Given the description of an element on the screen output the (x, y) to click on. 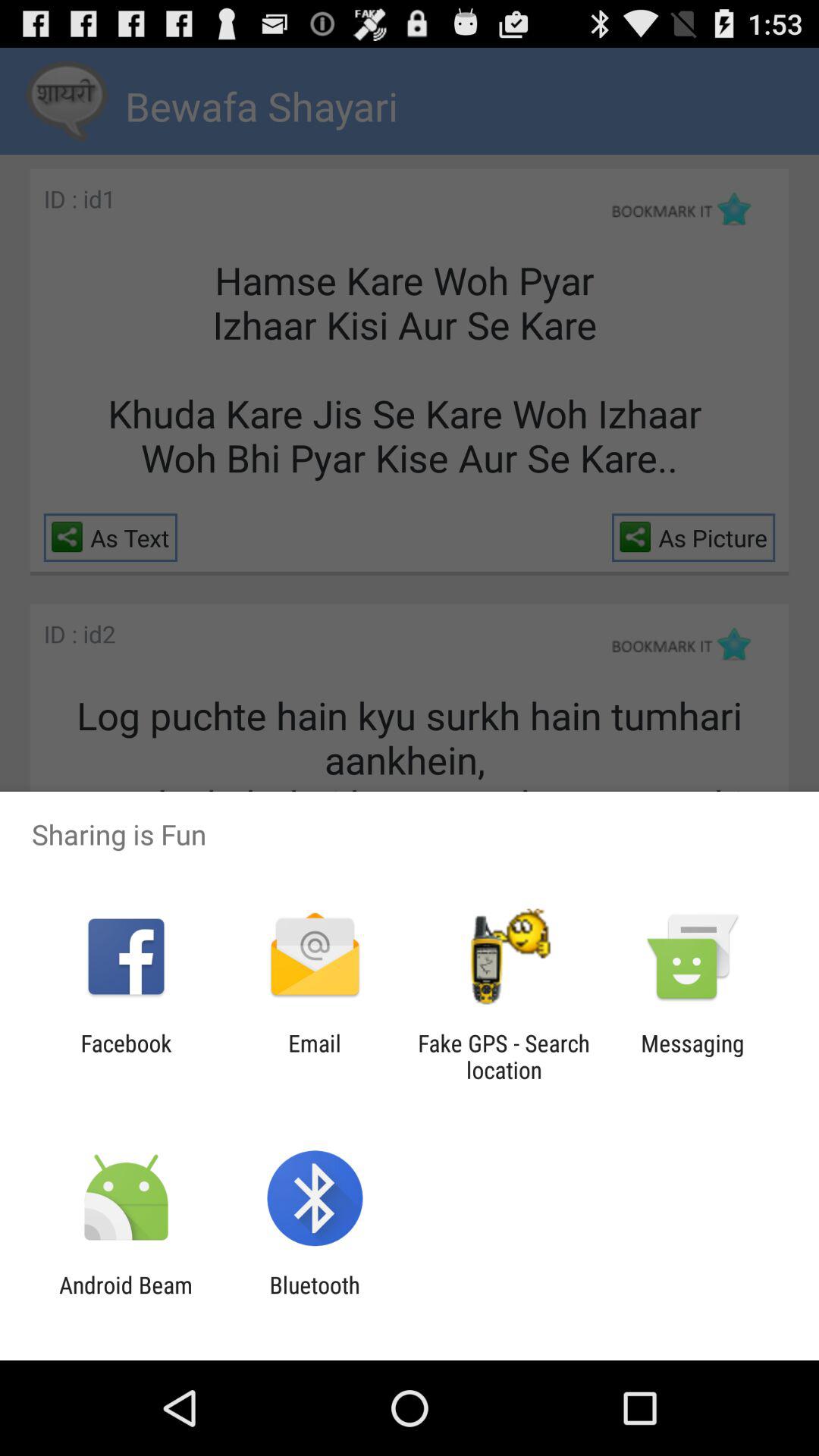
choose app to the left of the email icon (125, 1056)
